Given the description of an element on the screen output the (x, y) to click on. 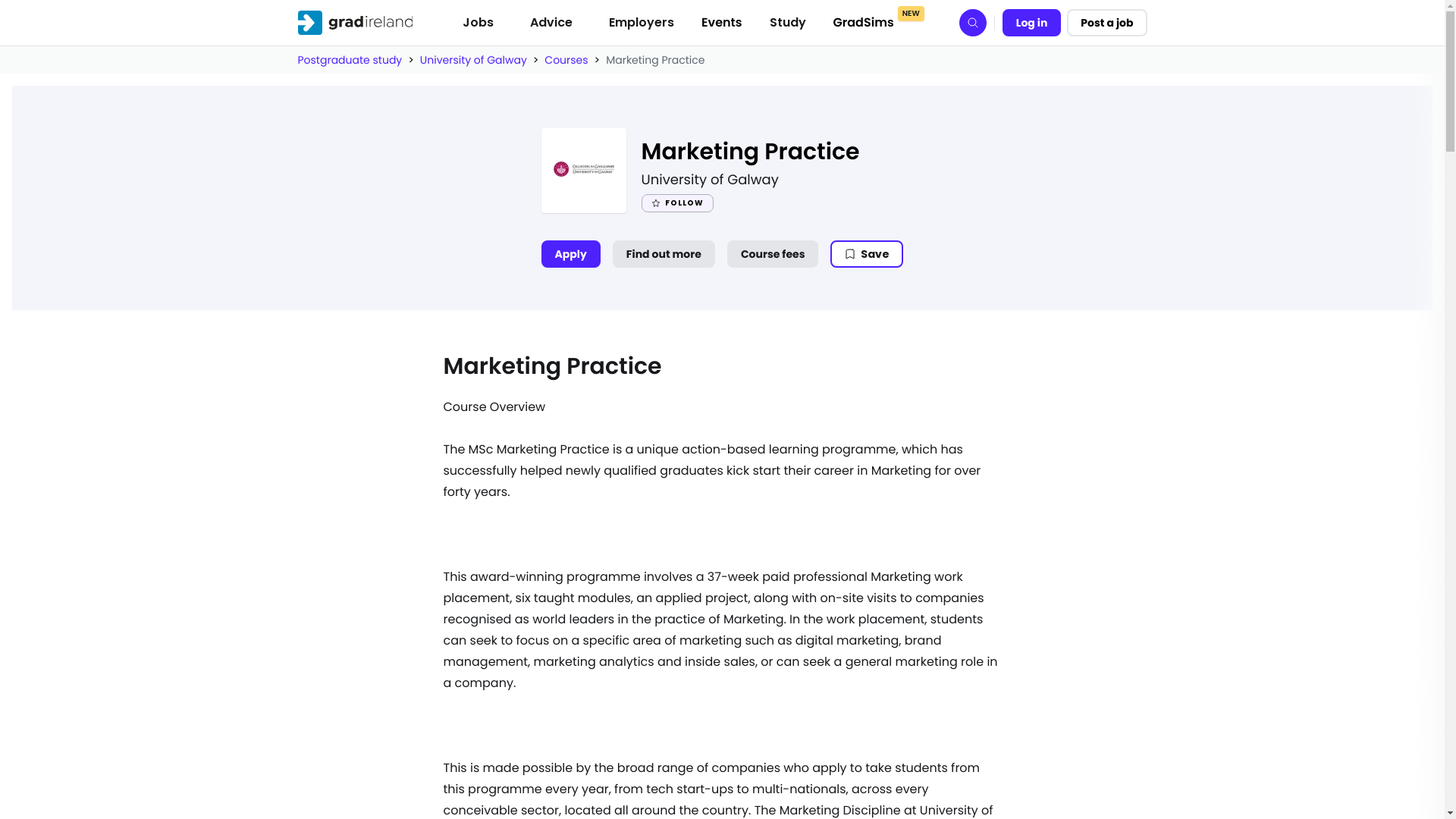
Advice (550, 22)
Jobs (477, 22)
